Given the description of an element on the screen output the (x, y) to click on. 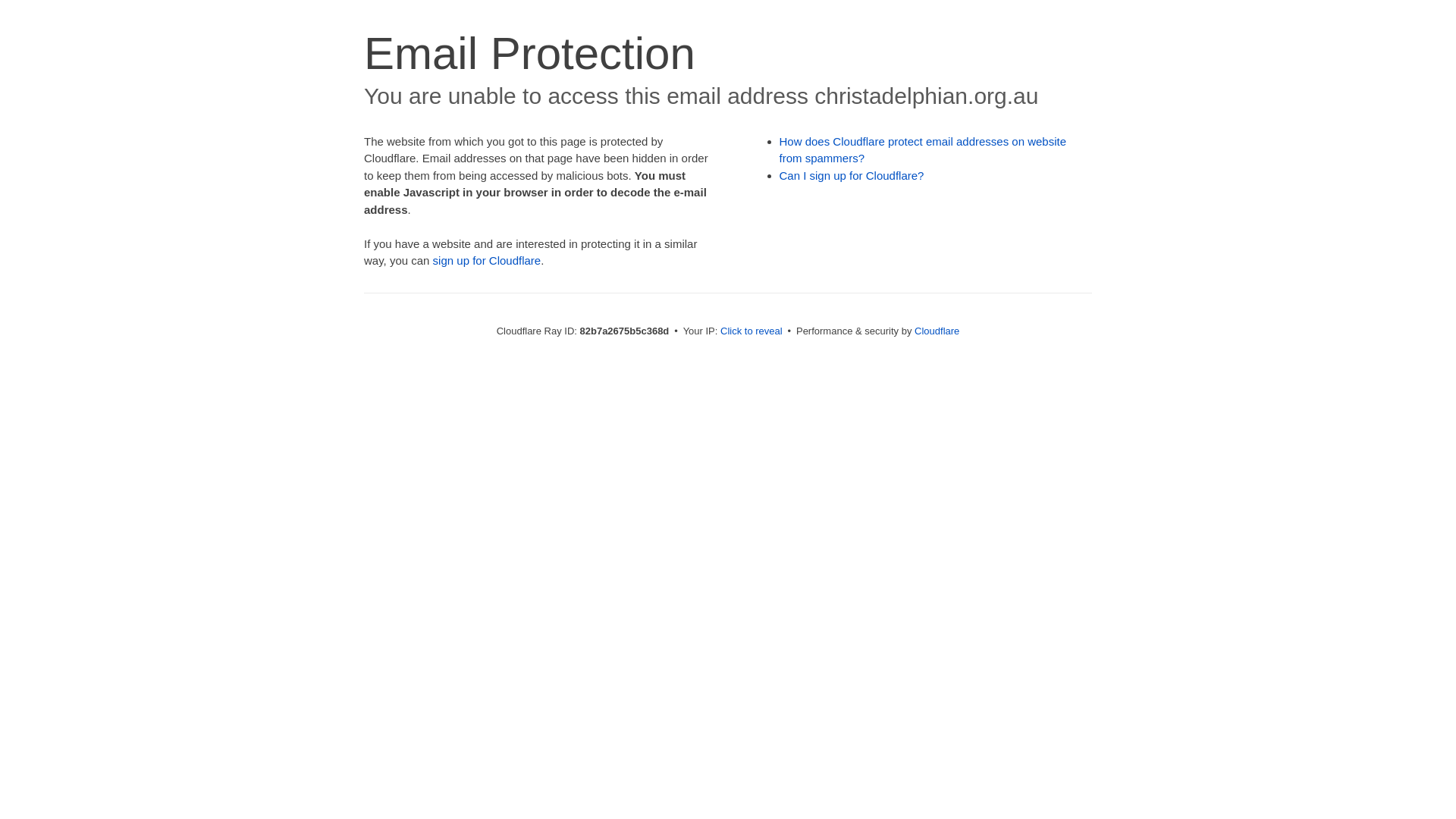
Can I sign up for Cloudflare? Element type: text (851, 175)
Click to reveal Element type: text (751, 330)
sign up for Cloudflare Element type: text (487, 260)
Cloudflare Element type: text (936, 330)
